Given the description of an element on the screen output the (x, y) to click on. 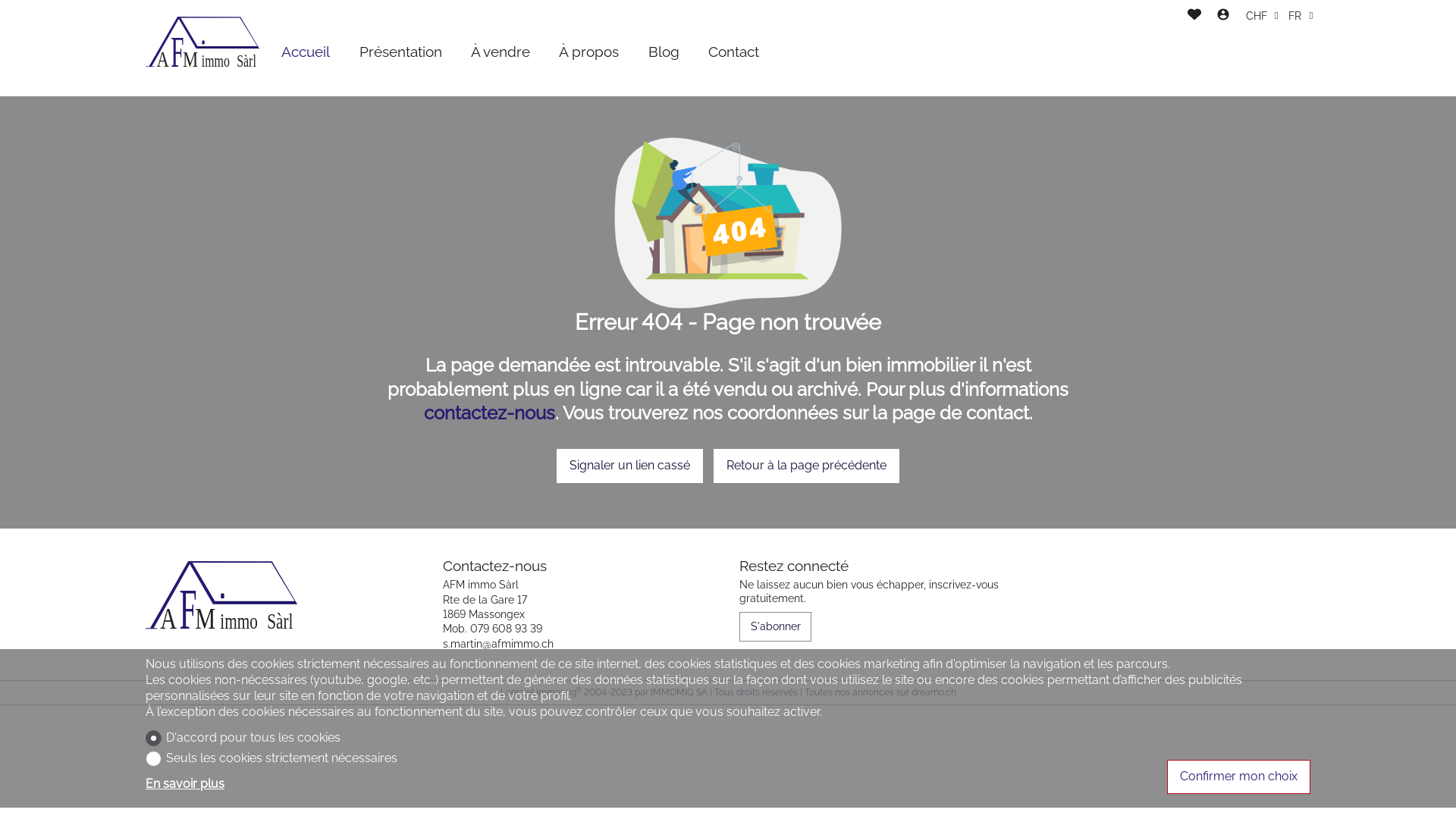
s.martin@afmimmo.ch Element type: text (497, 643)
Accueil Element type: text (305, 51)
En savoir plus Element type: text (271, 784)
079 608 93 39 Element type: text (506, 628)
Confirmer mon choix Element type: text (1238, 776)
S'abonner Element type: text (775, 626)
Blog Element type: text (663, 51)
dreamo.ch Element type: text (933, 692)
contactez-nous Element type: text (488, 412)
Contact Element type: text (733, 51)
